Given the description of an element on the screen output the (x, y) to click on. 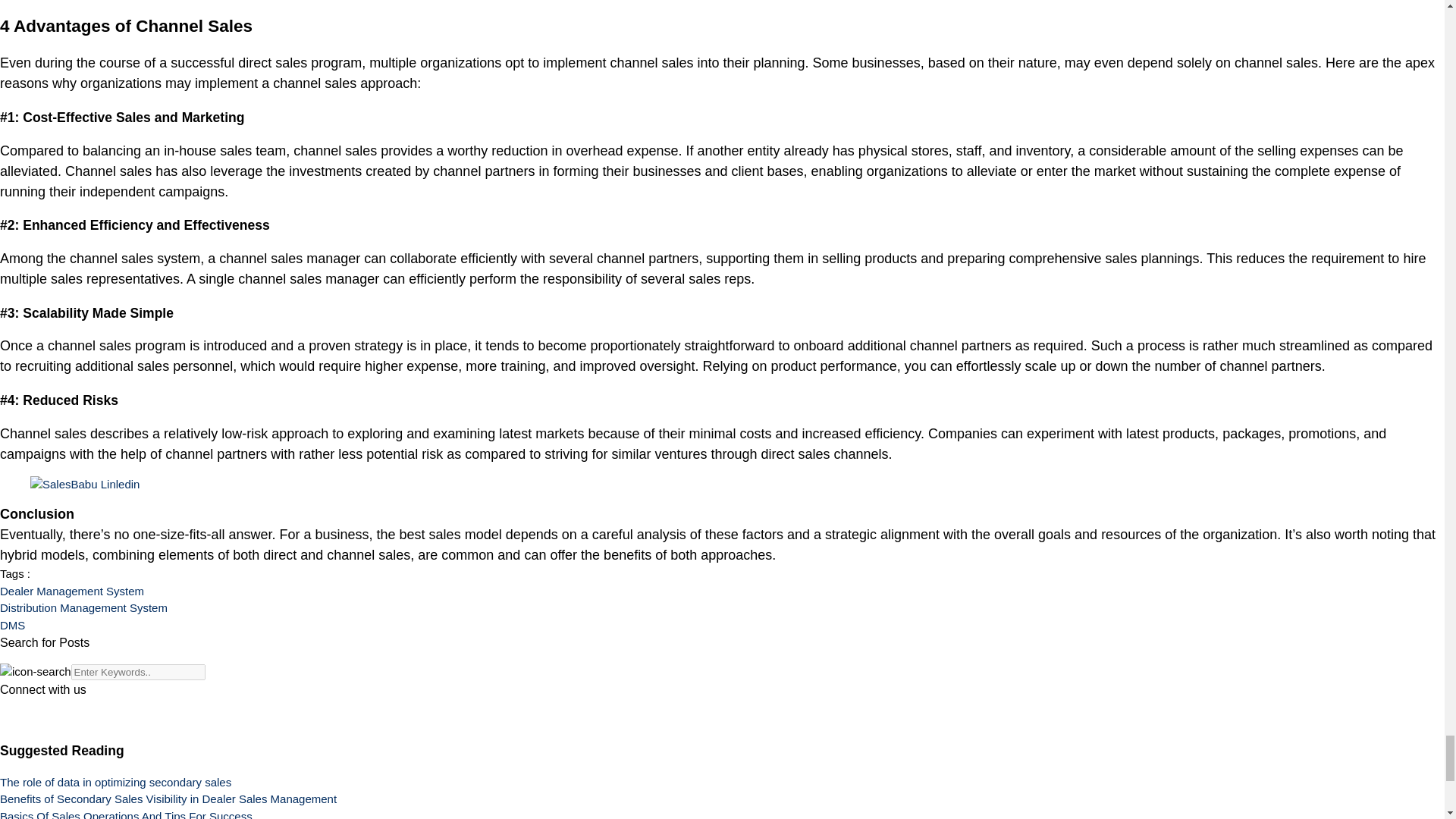
DMS (12, 625)
Distribution Management System (83, 607)
Dealer Management System (72, 590)
The role of data in optimizing secondary sales (115, 781)
Basics Of Sales Operations And Tips For Success (125, 814)
